Given the description of an element on the screen output the (x, y) to click on. 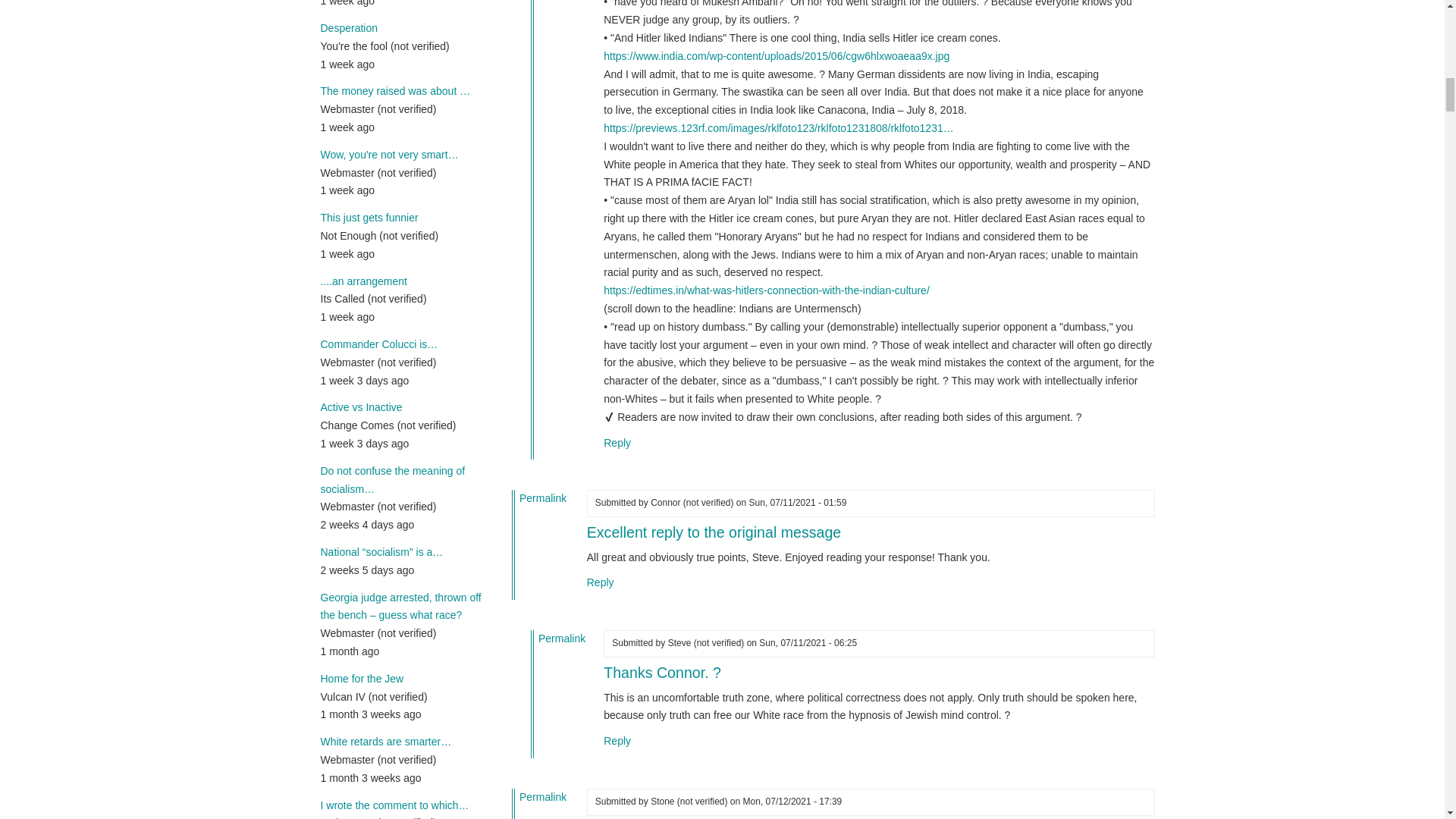
Desperation (348, 28)
